Given the description of an element on the screen output the (x, y) to click on. 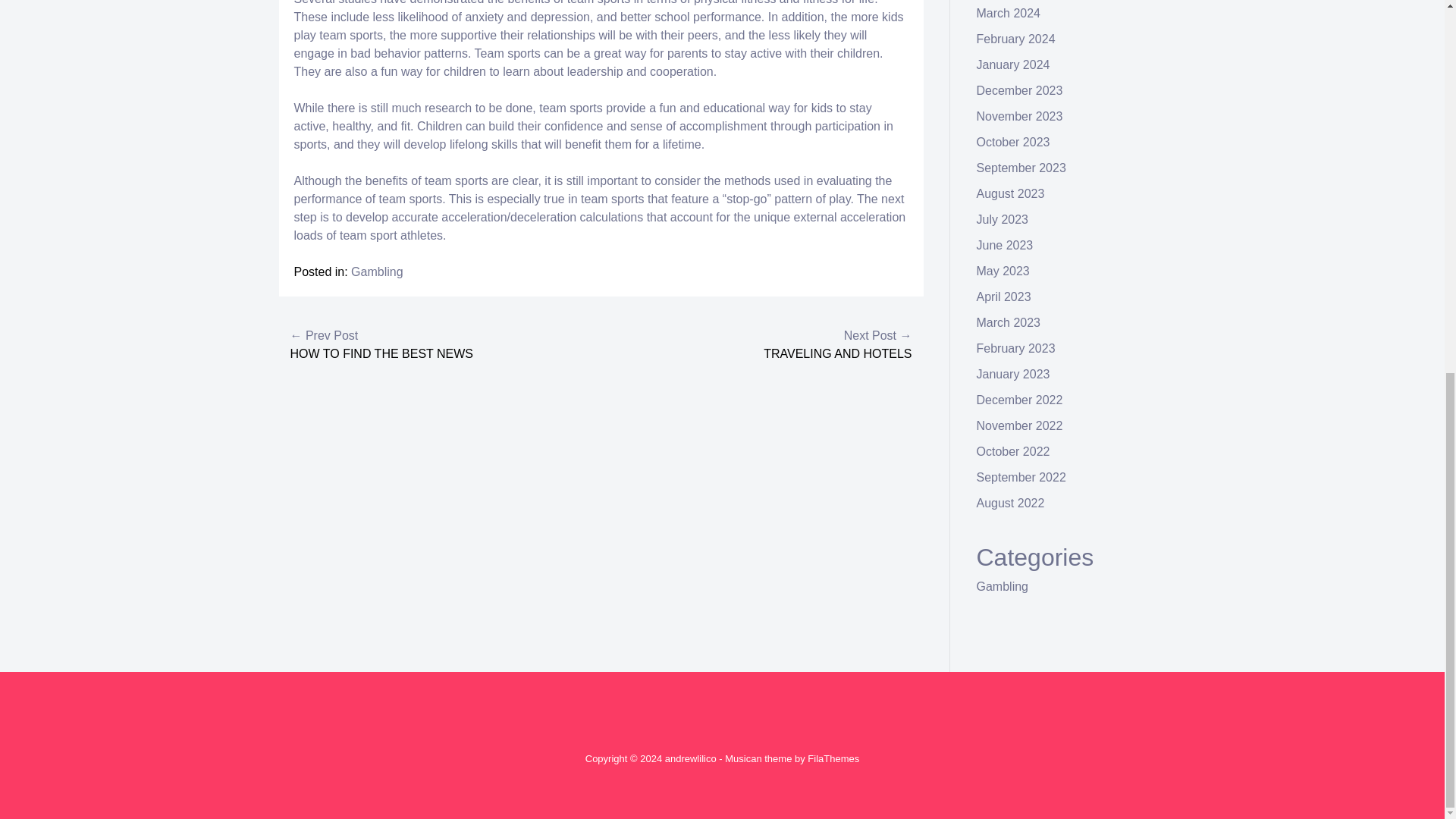
April 2023 (1003, 296)
November 2023 (1019, 115)
June 2023 (1004, 245)
March 2024 (1008, 12)
December 2022 (1019, 399)
Gambling (376, 271)
May 2023 (1002, 270)
andrewlilico (690, 758)
October 2022 (1012, 451)
November 2022 (1019, 425)
January 2023 (1012, 373)
August 2023 (1010, 193)
October 2023 (1012, 141)
September 2023 (1020, 167)
August 2022 (1010, 502)
